Given the description of an element on the screen output the (x, y) to click on. 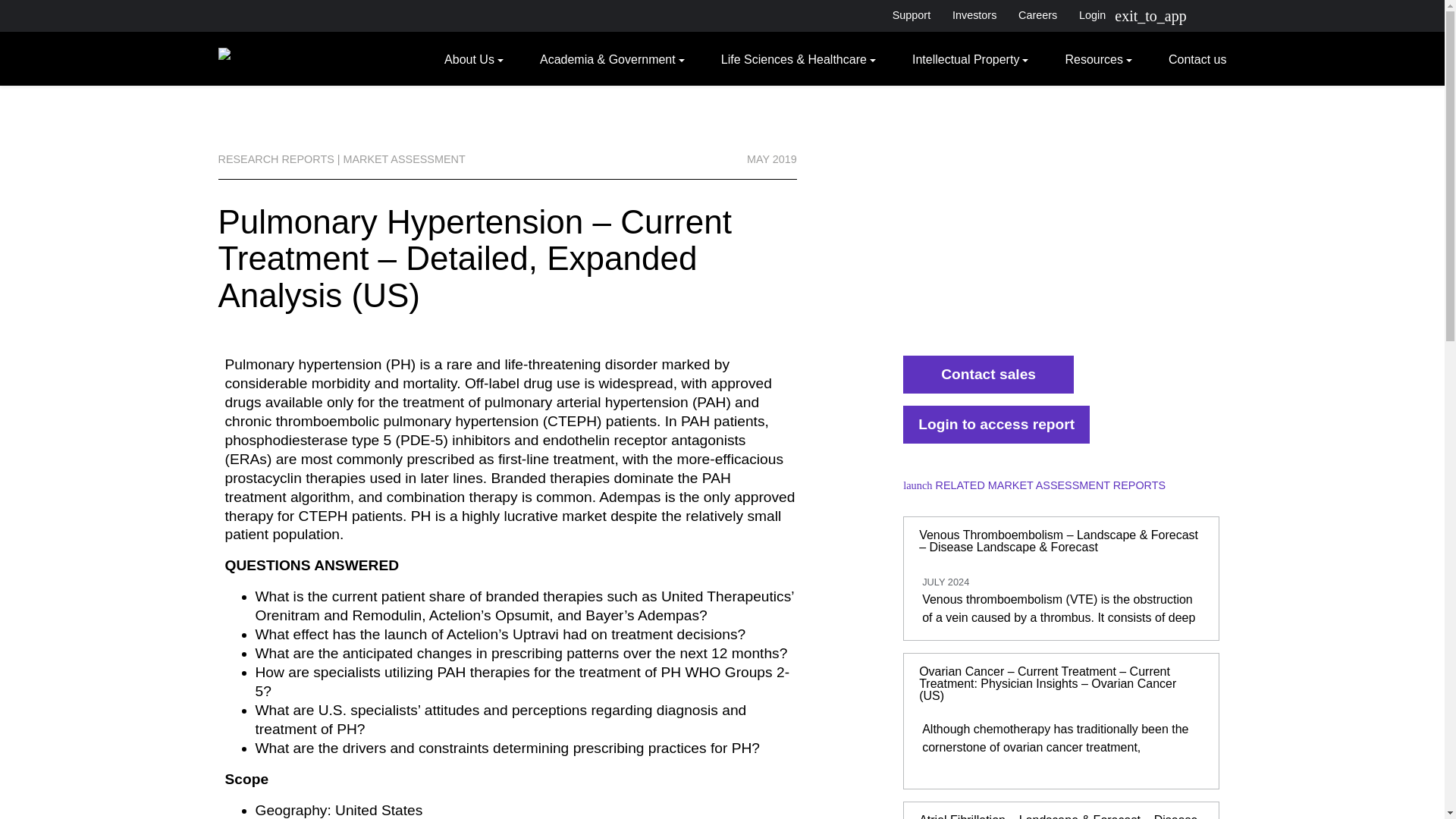
Investors (974, 15)
Careers (1037, 15)
About Us (473, 58)
Support (910, 15)
